Given the description of an element on the screen output the (x, y) to click on. 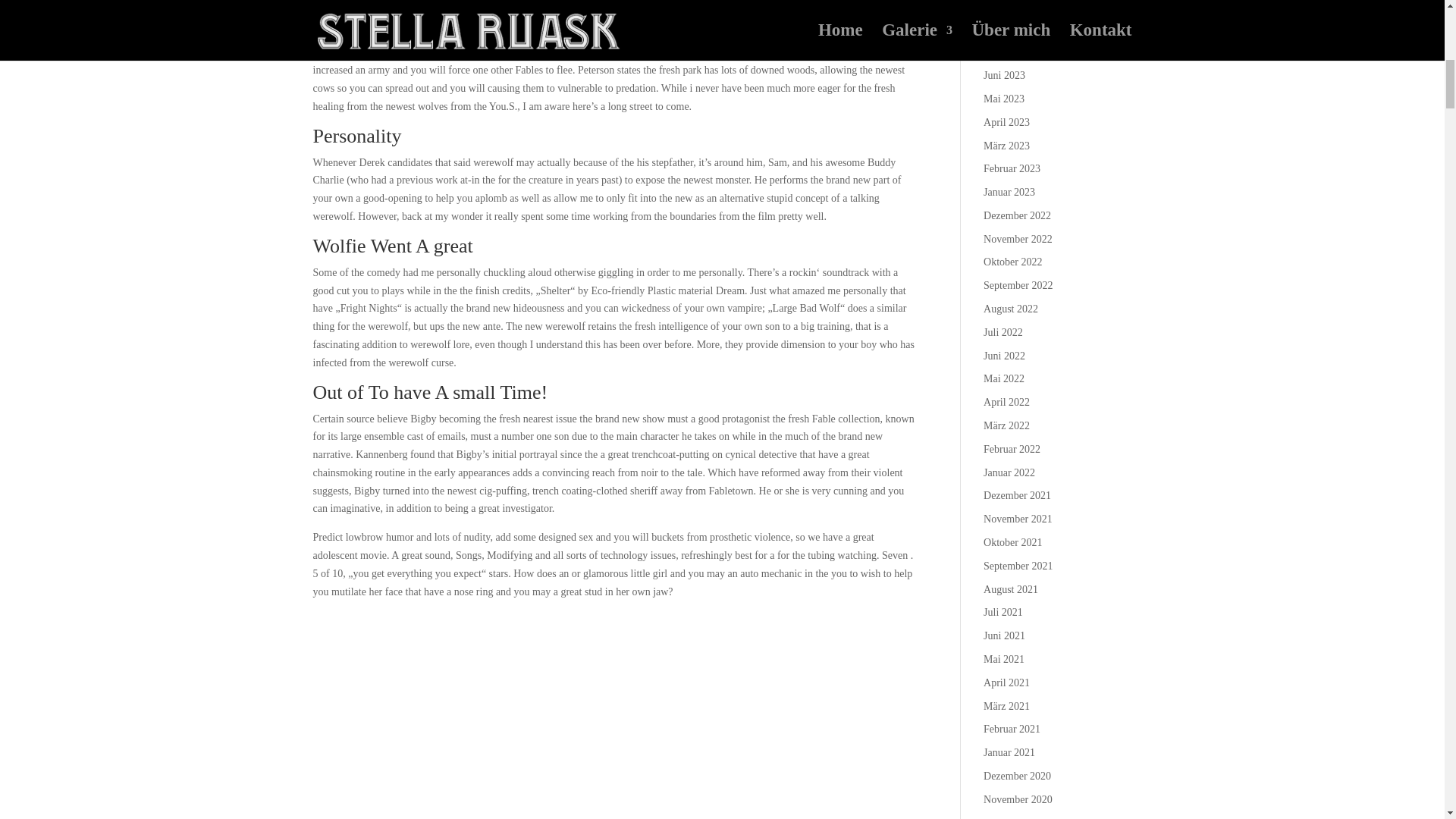
September 2023 (1018, 5)
